Given the description of an element on the screen output the (x, y) to click on. 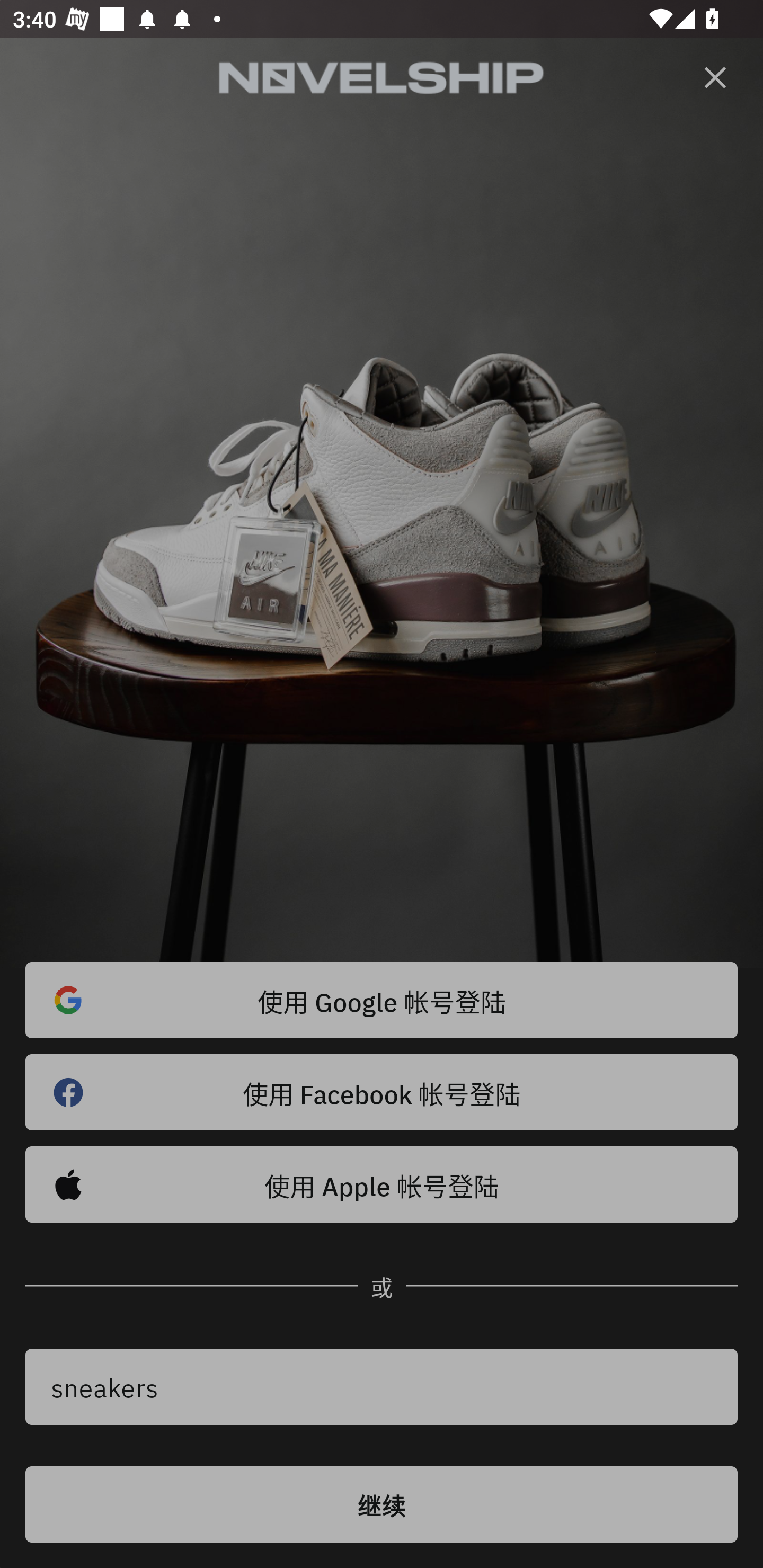
使用 Google 帐号登陆 (381, 1000)
使用 Facebook 帐号登陆 󰈌 (381, 1091)
 使用 Apple 帐号登陆 (381, 1184)
sneakers (381, 1386)
继续 (381, 1504)
